Given the description of an element on the screen output the (x, y) to click on. 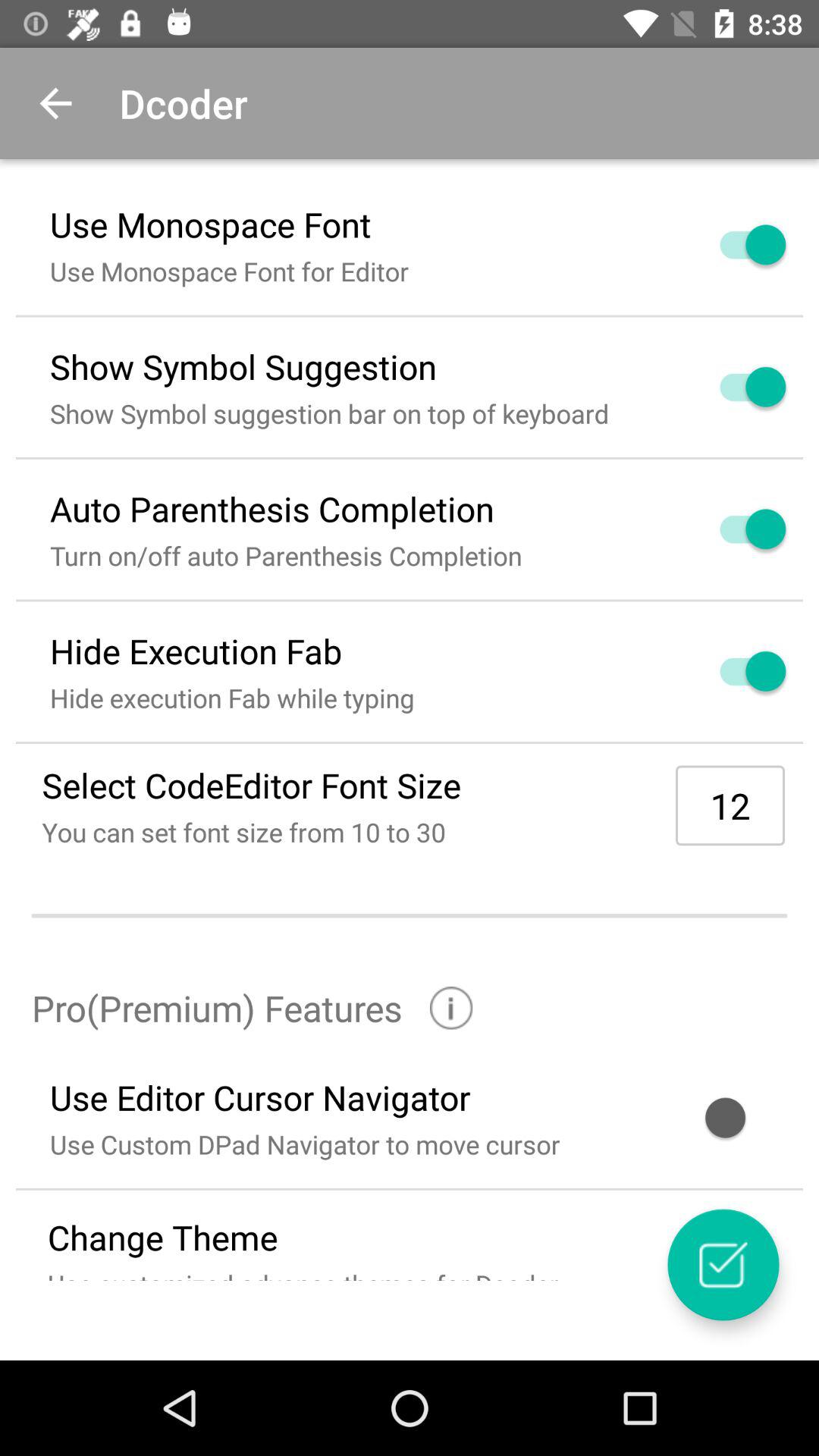
turn on the item to the right of the use monospace font icon (734, 244)
